Given the description of an element on the screen output the (x, y) to click on. 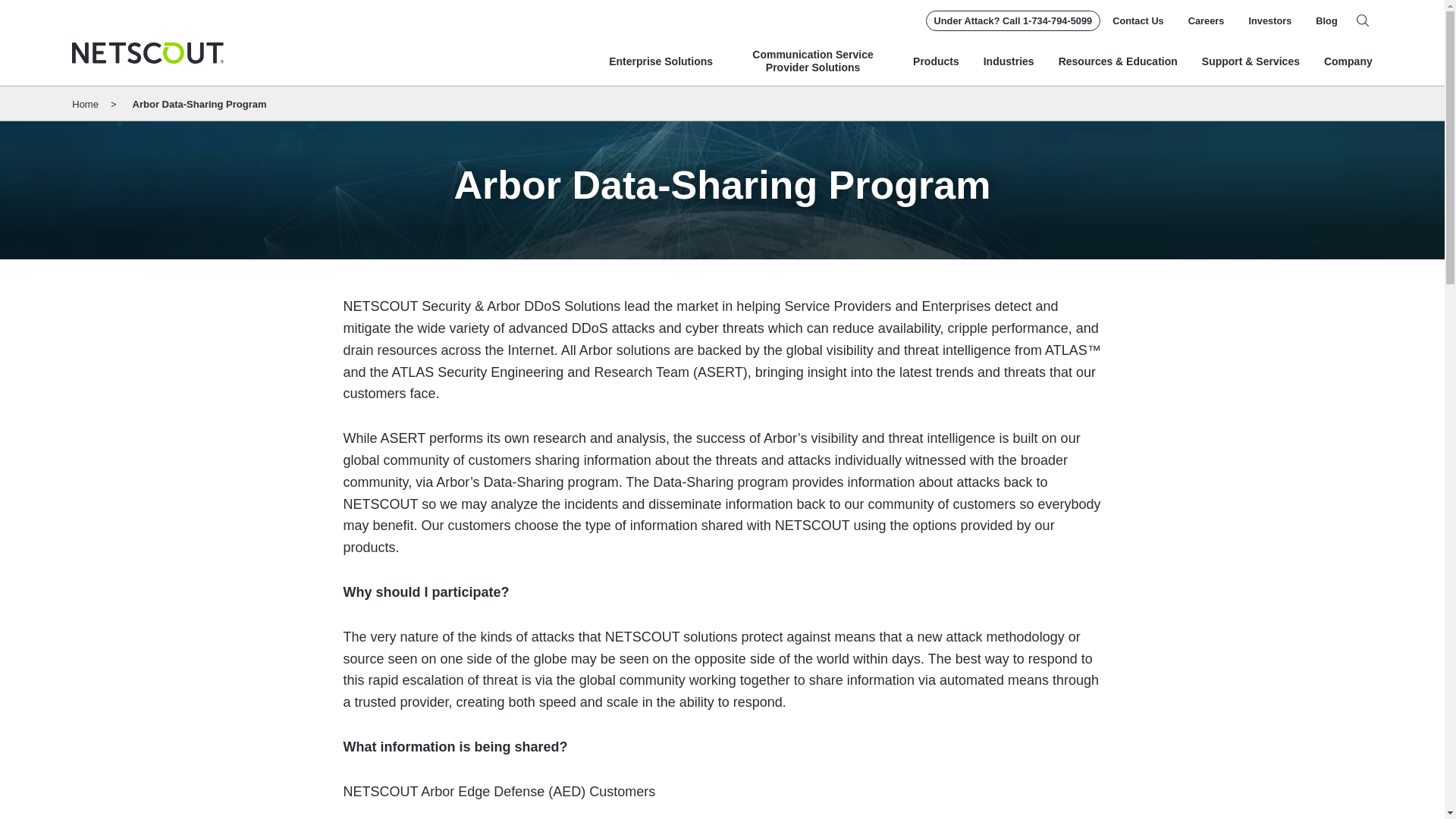
Careers (1206, 20)
Search (1362, 20)
Blog (1326, 20)
Home (147, 52)
Investors (1269, 20)
Under Attack? Call 1-734-794-5099 (1013, 20)
Contact Us (1138, 20)
Search (1362, 20)
